Given the description of an element on the screen output the (x, y) to click on. 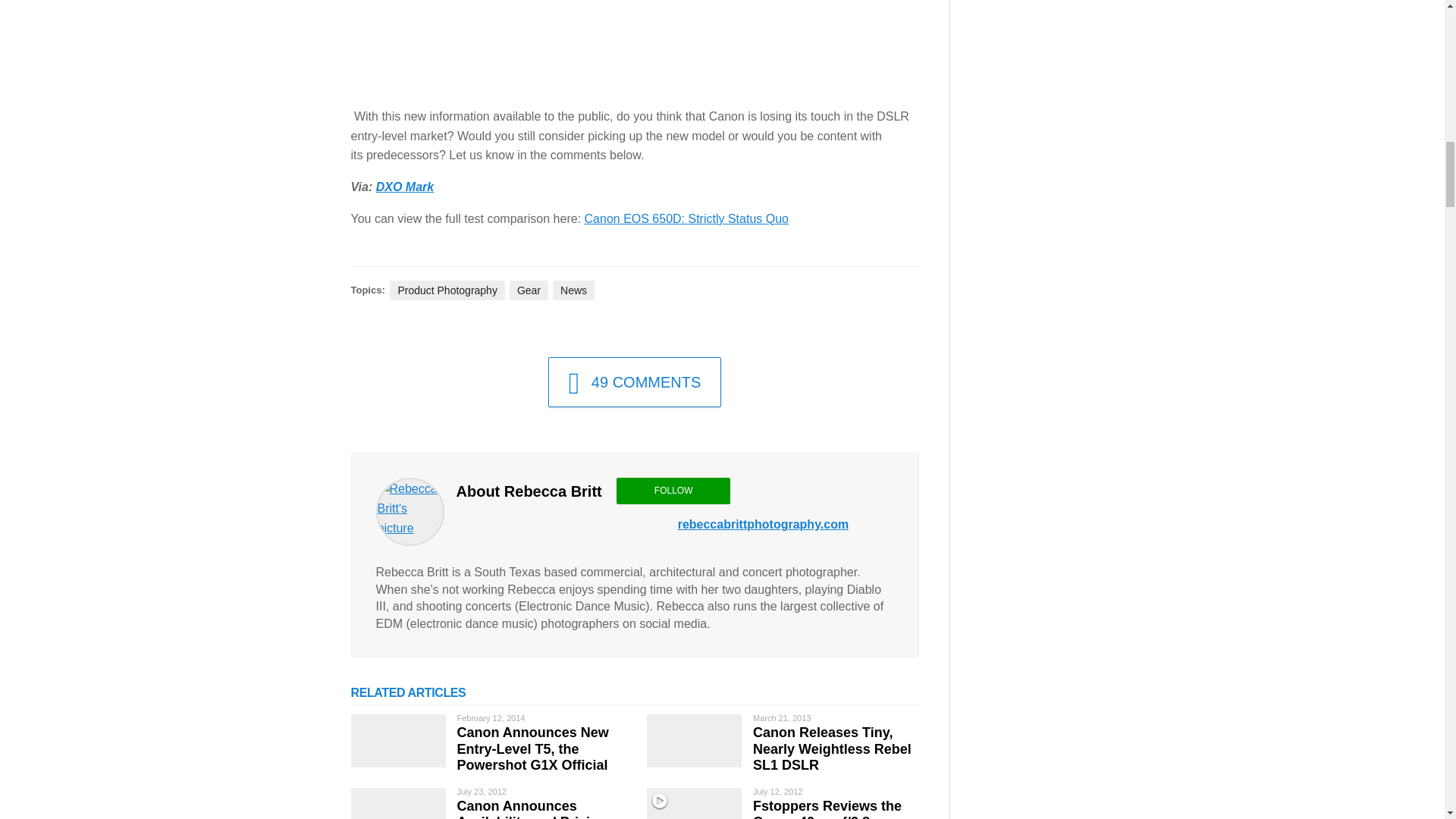
DXO Mark (404, 186)
Canon EOS 650D: Strictly Status Quo (687, 218)
News (573, 290)
Product Photography (447, 290)
Gear (528, 290)
49 COMMENTS (635, 382)
